Given the description of an element on the screen output the (x, y) to click on. 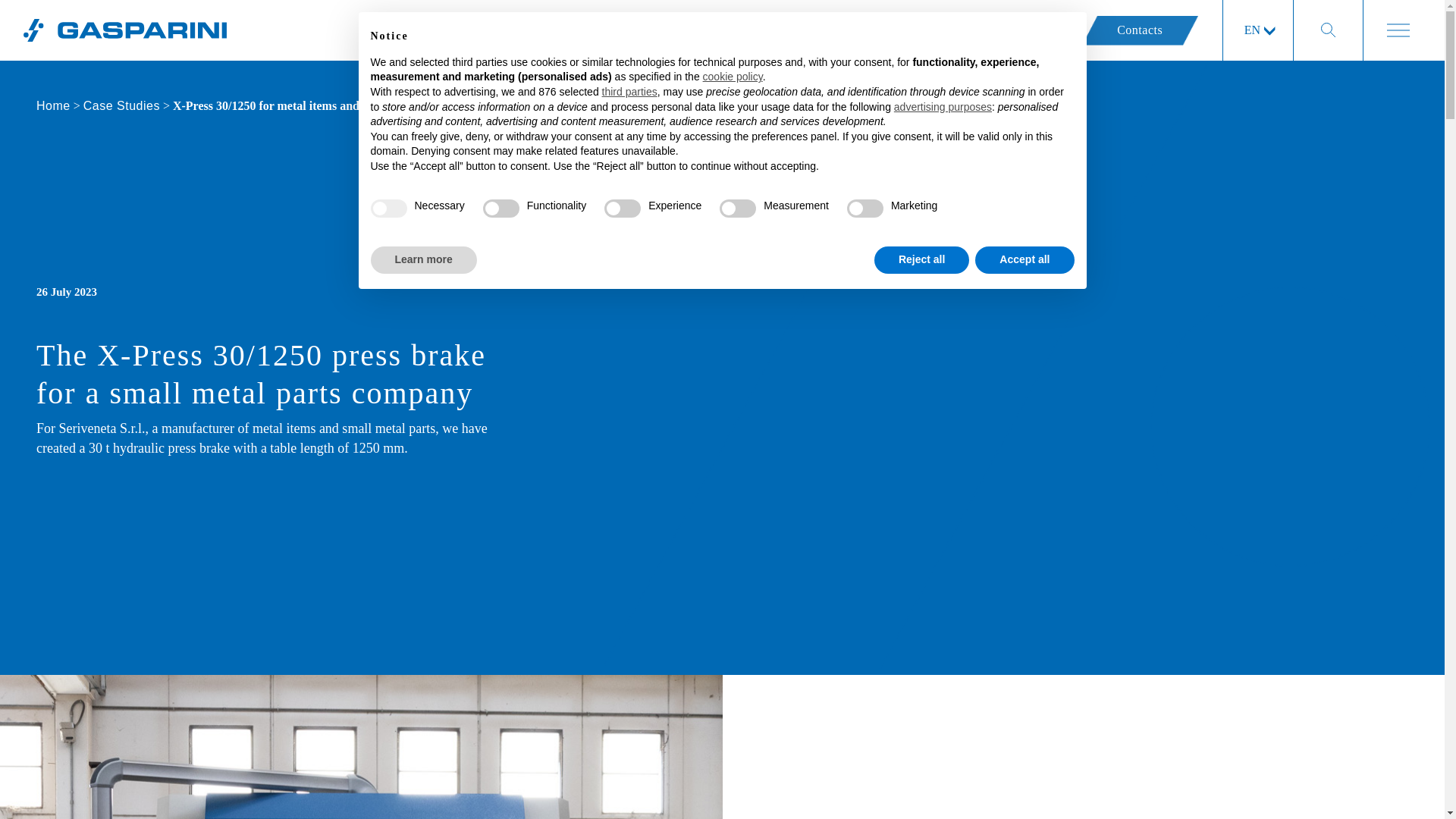
Calculators (898, 30)
Search (29, 14)
Contacts (1139, 30)
Products (798, 30)
false (865, 208)
false (737, 208)
Configurator (1011, 30)
false (501, 208)
true (387, 208)
false (622, 208)
